Given the description of an element on the screen output the (x, y) to click on. 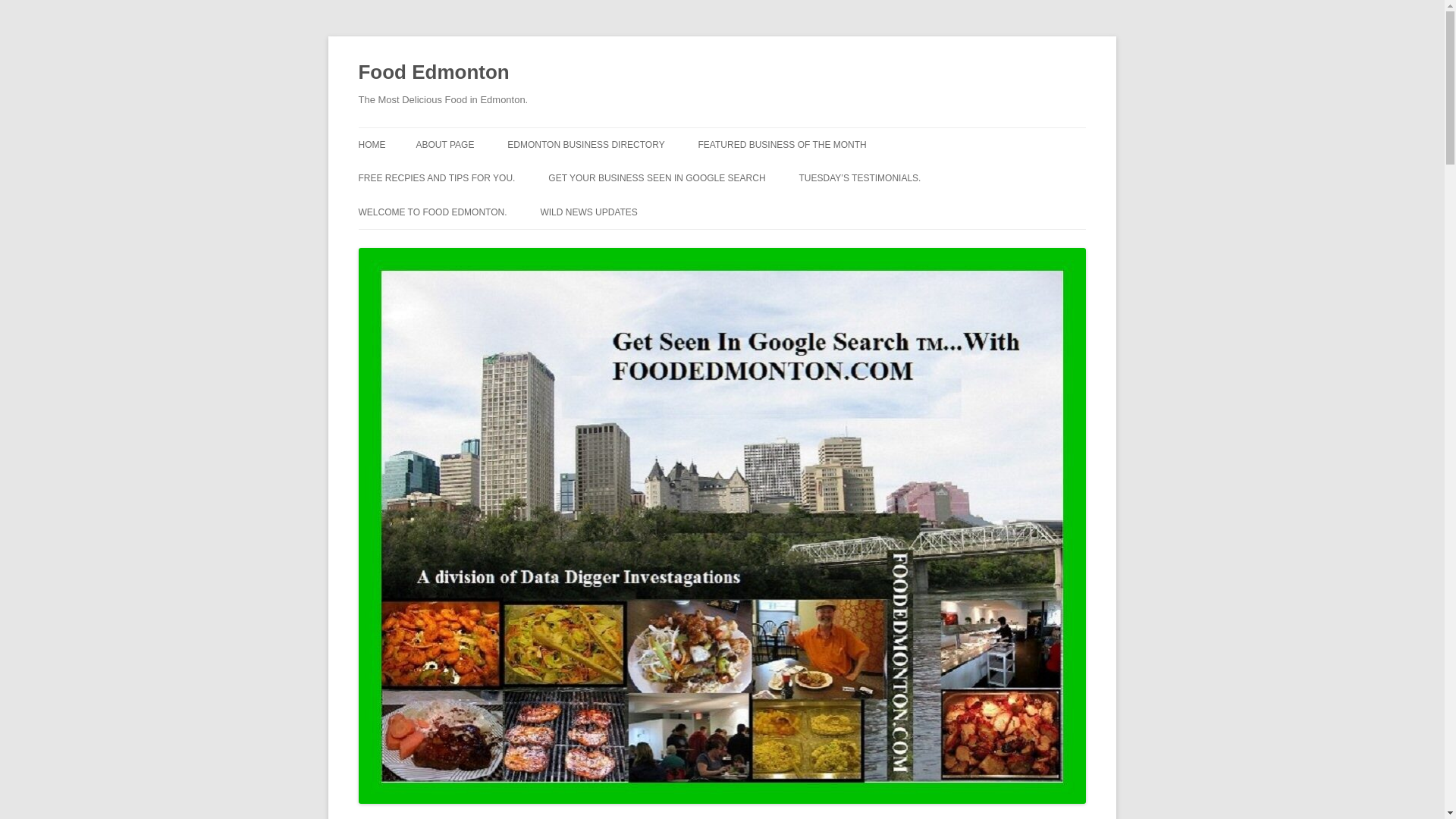
WILD NEWS UPDATES (588, 212)
ABOUT PAGE (444, 144)
WELCOME TO FOOD EDMONTON. (432, 212)
EDMONTON BUSINESS DIRECTORY (584, 144)
Food Edmonton (433, 72)
FREE RECPIES AND TIPS FOR YOU. (436, 177)
FEATURED BUSINESS OF THE MONTH (782, 144)
GET YOUR BUSINESS SEEN IN GOOGLE SEARCH (656, 177)
